Given the description of an element on the screen output the (x, y) to click on. 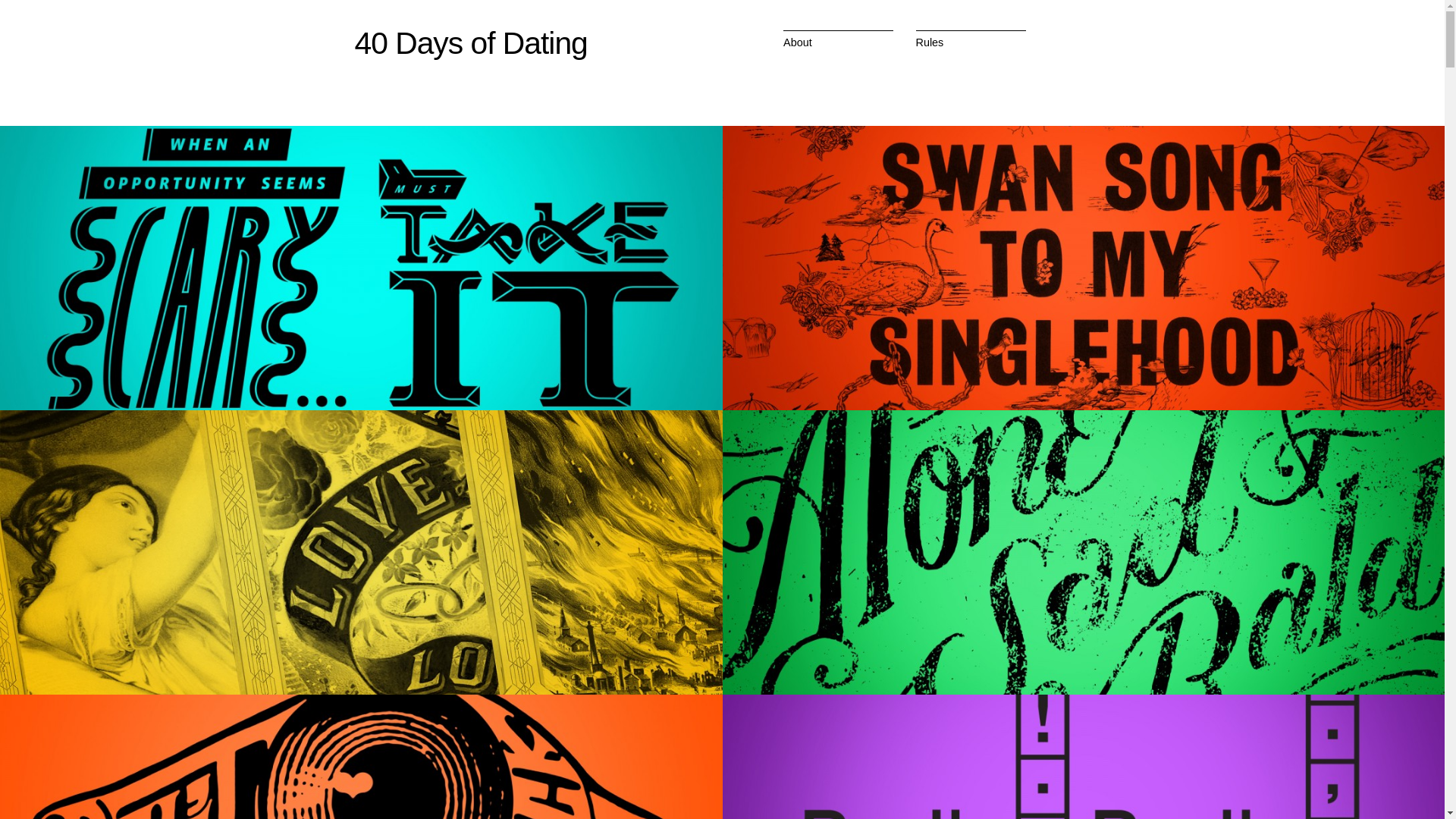
40 Days of Dating (471, 42)
About (797, 42)
Rules (929, 42)
